Given the description of an element on the screen output the (x, y) to click on. 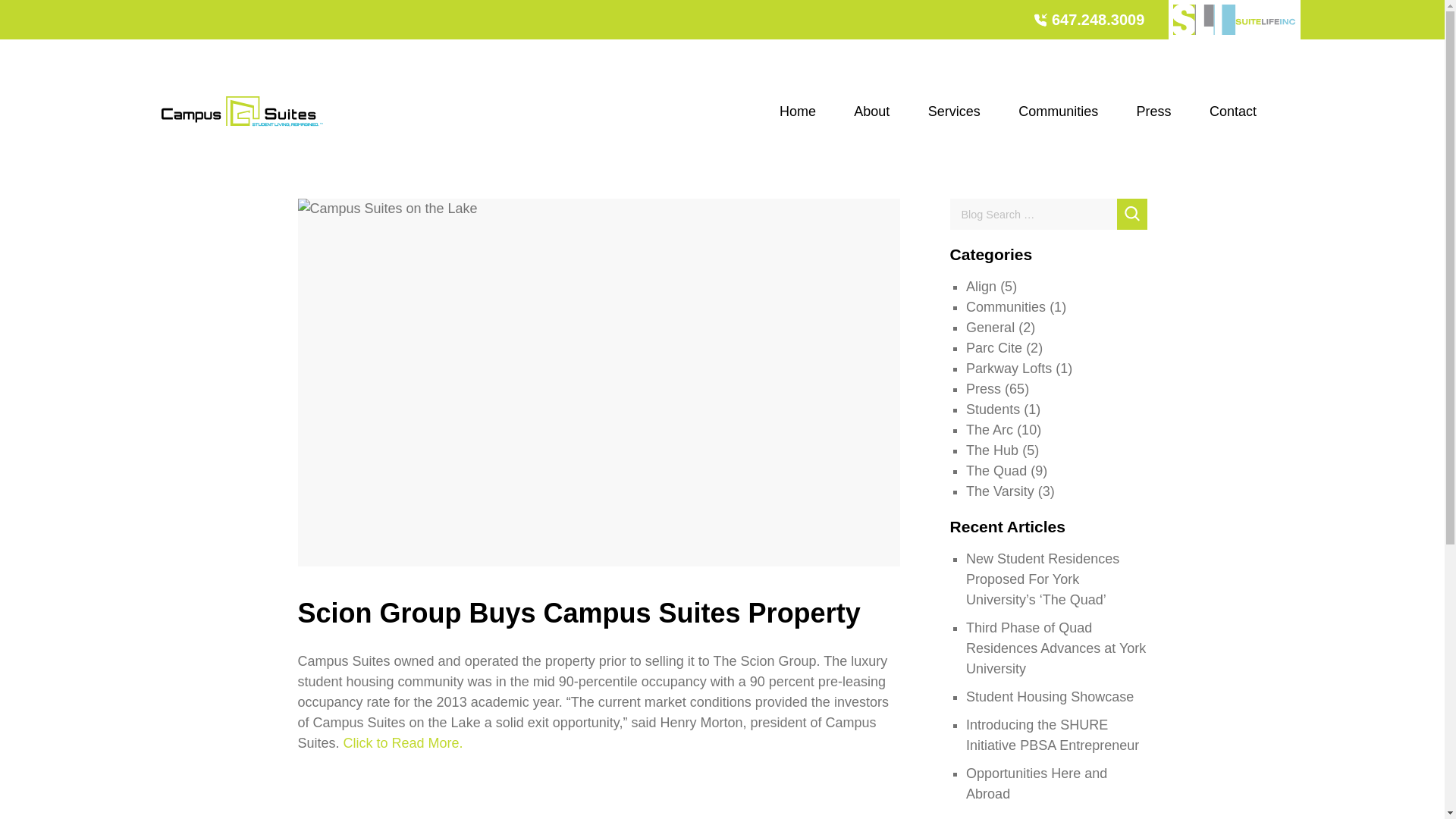
The Arc (989, 429)
Communities (1005, 306)
About (872, 111)
Students (993, 409)
Contact (1233, 111)
Student Housing Showcase (1050, 696)
Third Phase of Quad Residences Advances at York University (1055, 647)
Press (1153, 111)
The Quad (996, 470)
Services (954, 111)
